Given the description of an element on the screen output the (x, y) to click on. 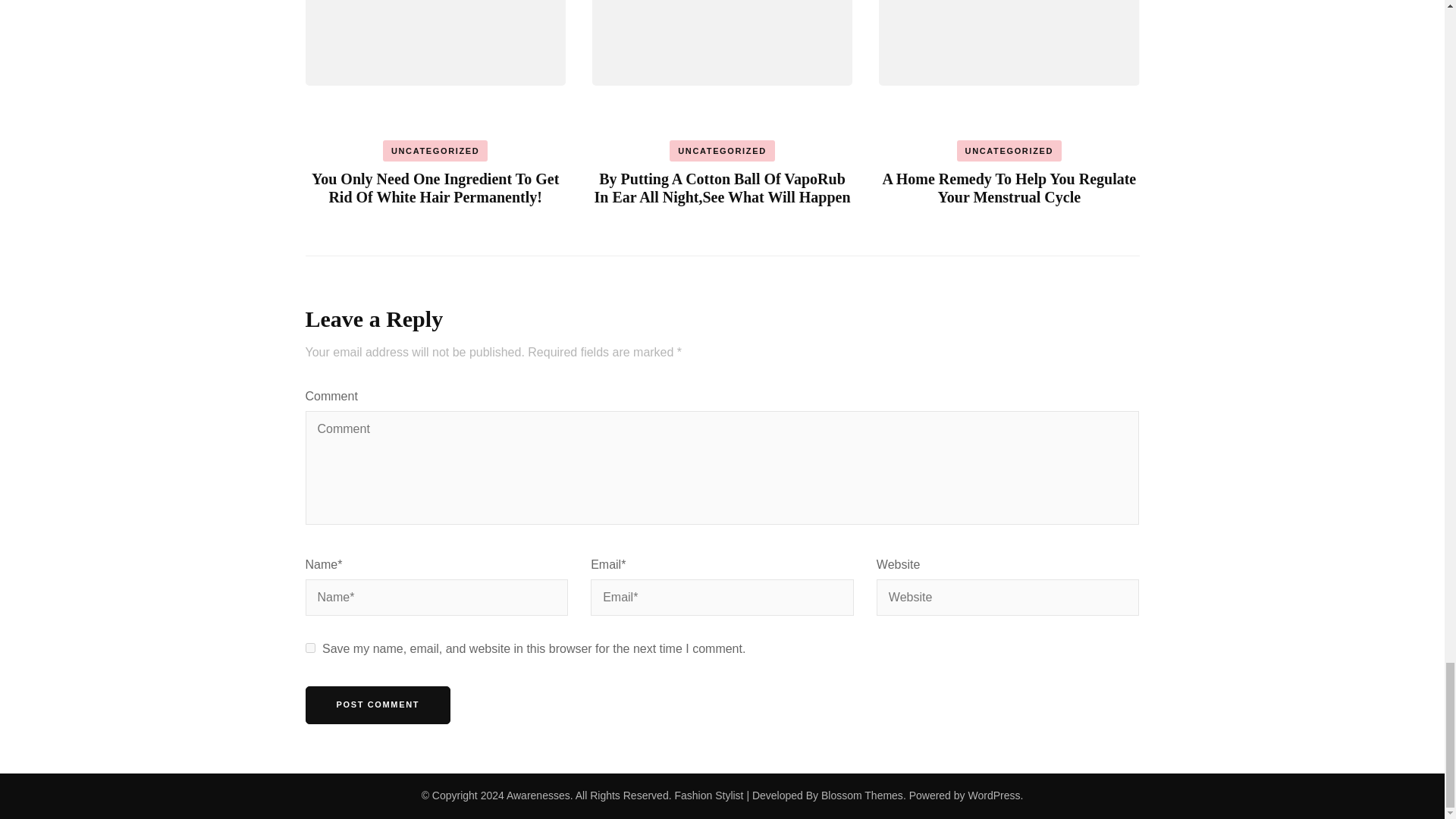
yes (309, 647)
Post Comment (376, 704)
UNCATEGORIZED (434, 150)
UNCATEGORIZED (721, 150)
